Given the description of an element on the screen output the (x, y) to click on. 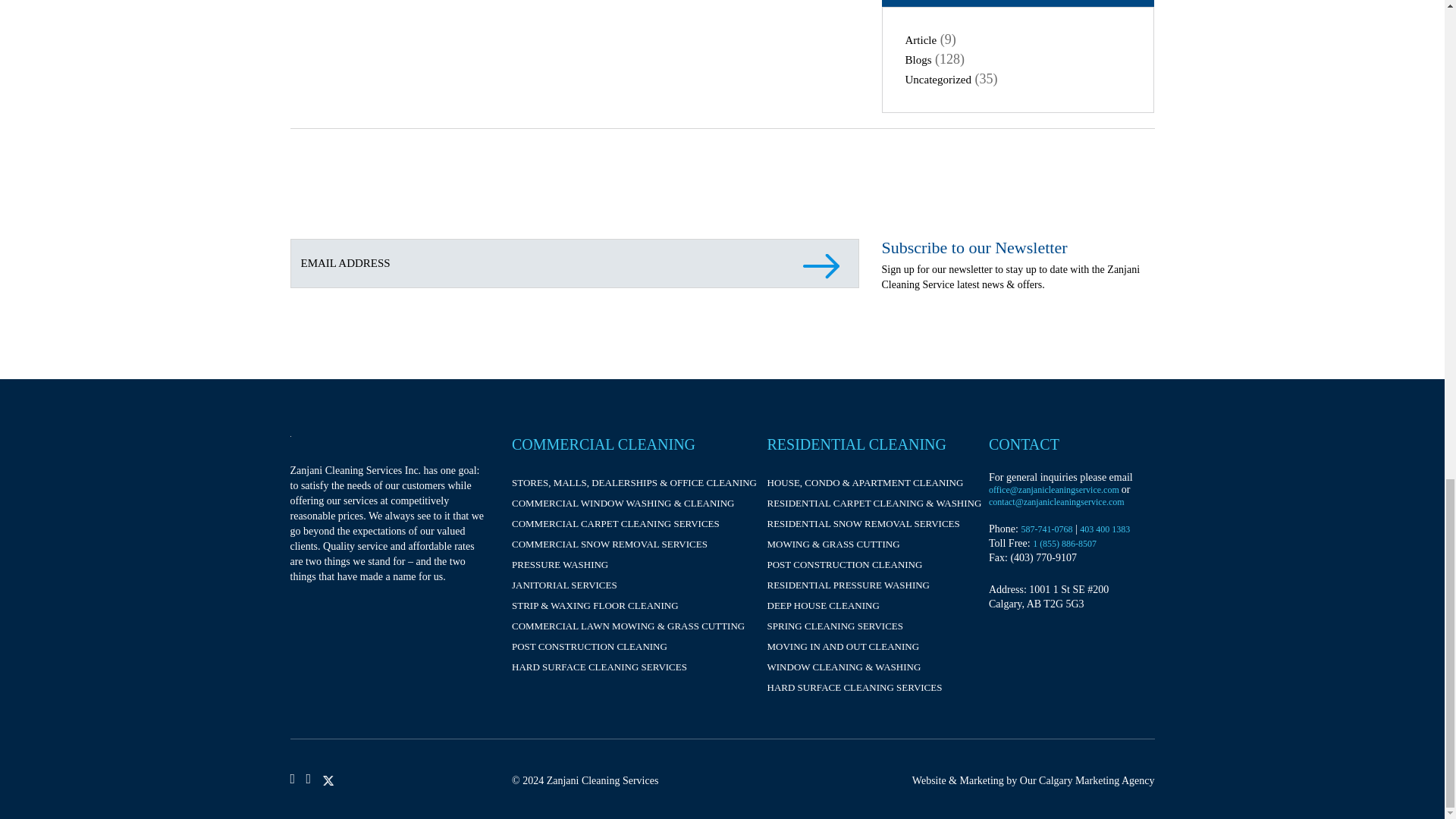
Subscribe (822, 276)
Blogs (918, 60)
Email Address (574, 263)
Subscribe (822, 276)
Uncategorized (938, 79)
Article (921, 39)
